Given the description of an element on the screen output the (x, y) to click on. 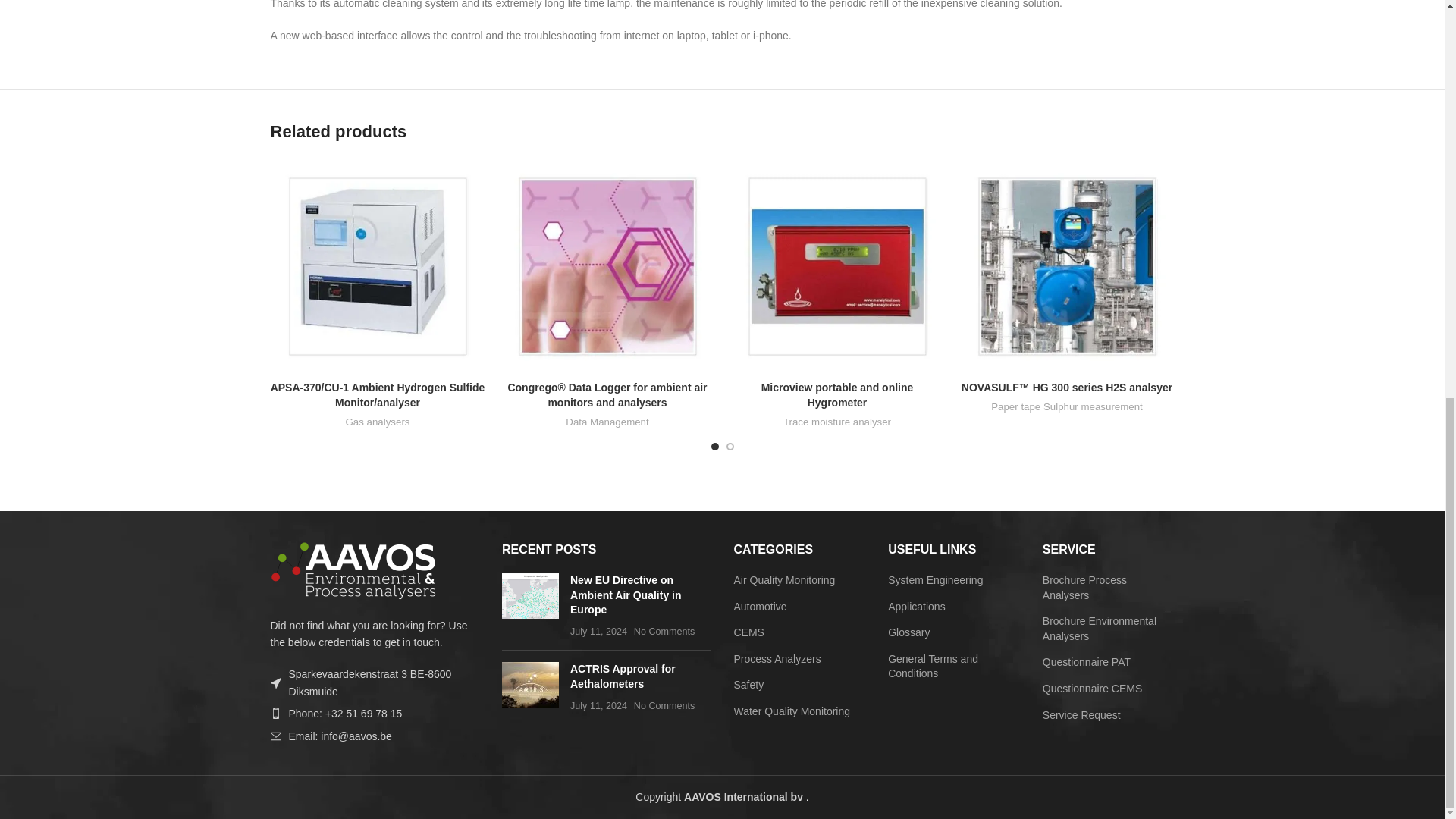
Permalink to ACTRIS Approval for Aethalometers (622, 676)
wd-envelope-light (275, 736)
wd-cursor-light (275, 683)
wd-phone-light (275, 713)
